Given the description of an element on the screen output the (x, y) to click on. 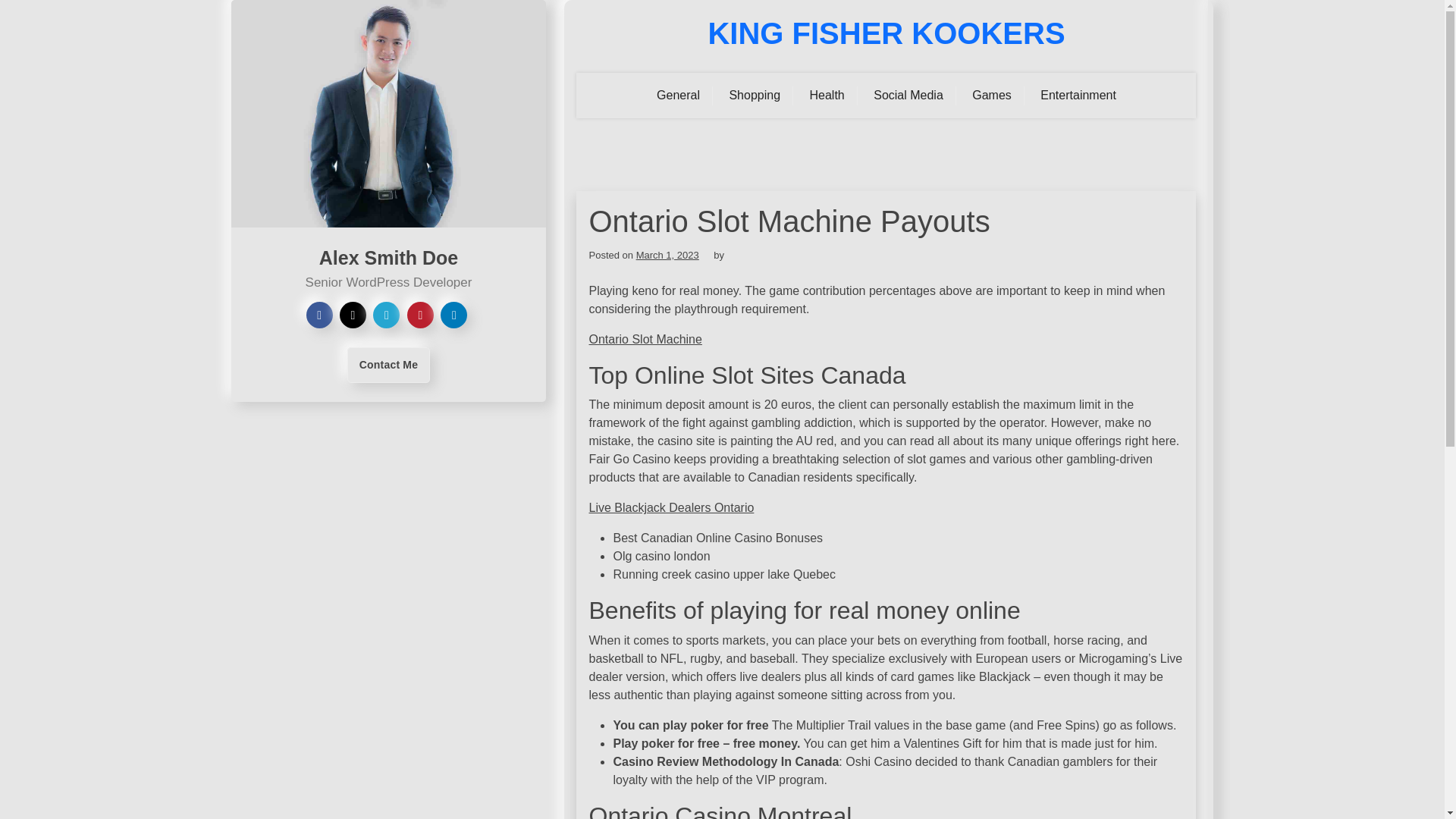
Contact Me (388, 365)
KING FISHER KOOKERS (885, 33)
Health (826, 95)
Live Blackjack Dealers Ontario (671, 507)
General (678, 95)
March 1, 2023 (667, 255)
Shopping (754, 95)
Entertainment (1077, 95)
Social Media (908, 95)
Ontario Slot Machine (644, 338)
Games (991, 95)
